Given the description of an element on the screen output the (x, y) to click on. 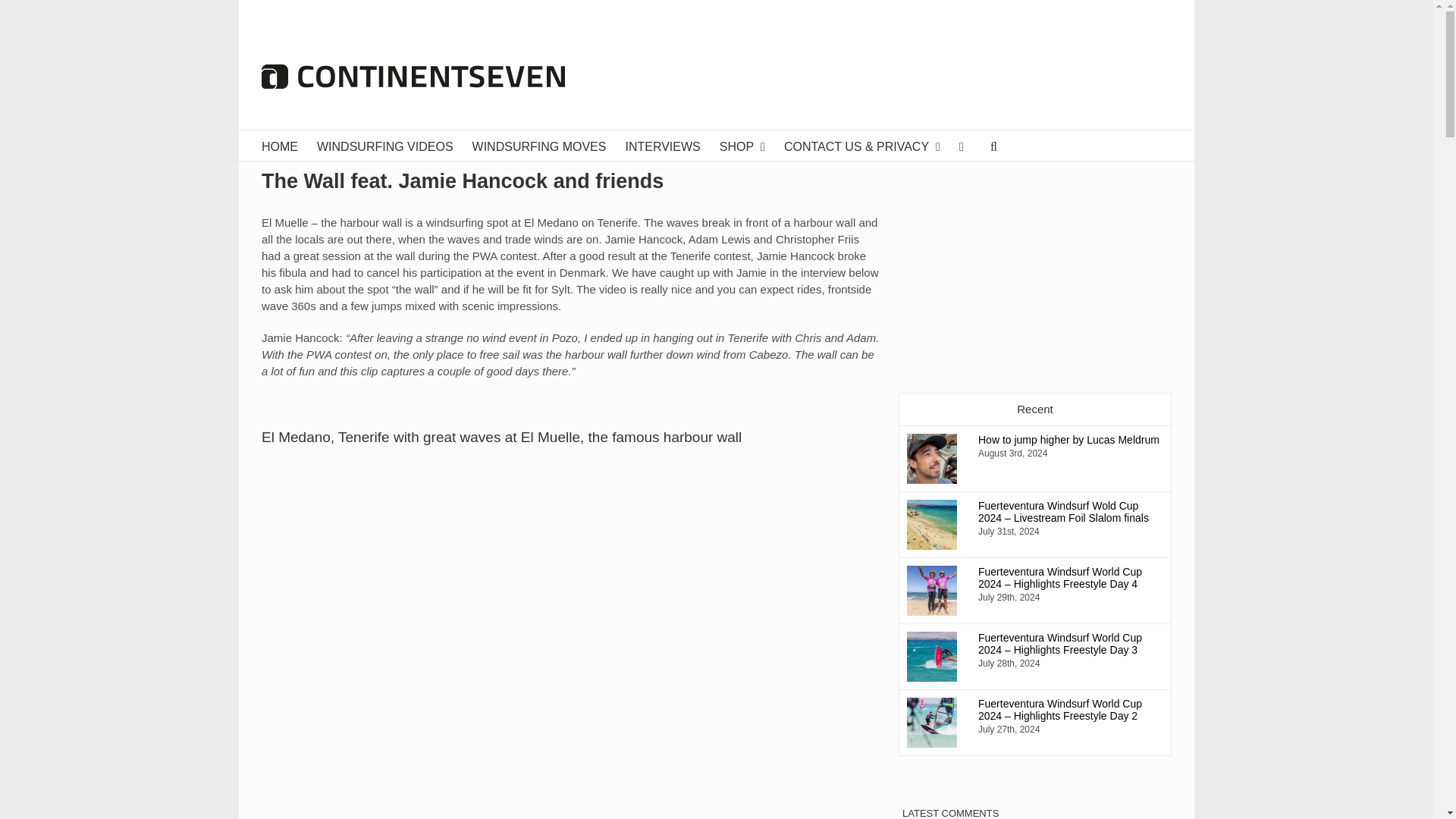
3rd party ad content (896, 76)
SHOP (742, 145)
INTERVIEWS (662, 145)
WINDSURFING MOVES (539, 145)
WINDSURFING VIDEOS (384, 145)
HOME (280, 145)
Search (996, 145)
